Given the description of an element on the screen output the (x, y) to click on. 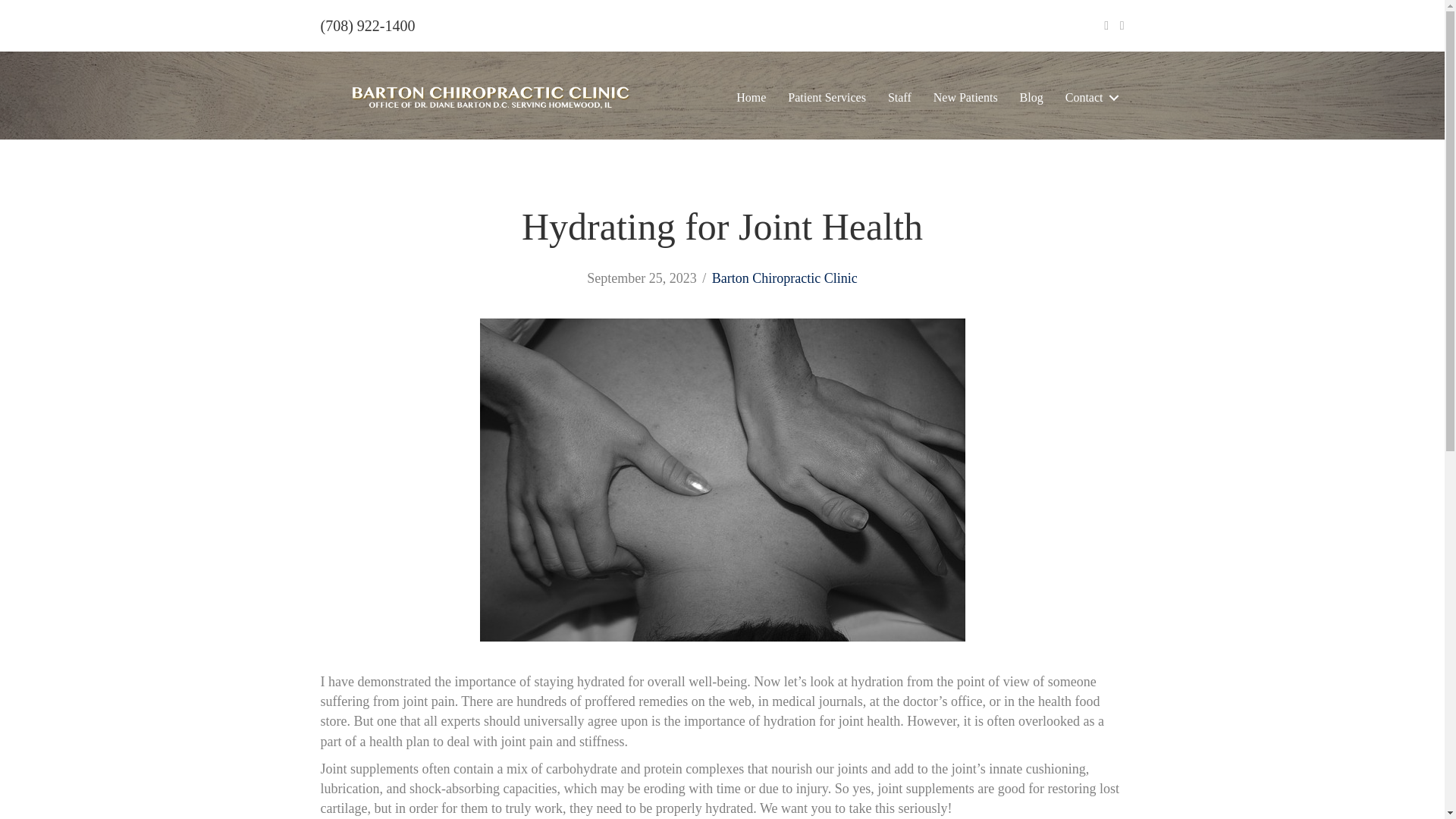
Barton Chiropractic Clinic (784, 278)
Staff (899, 97)
bartonchiroLogo5 (490, 97)
Home (750, 97)
New Patients (966, 97)
Contact (1089, 97)
Blog (1031, 97)
Patient Services (826, 97)
